Given the description of an element on the screen output the (x, y) to click on. 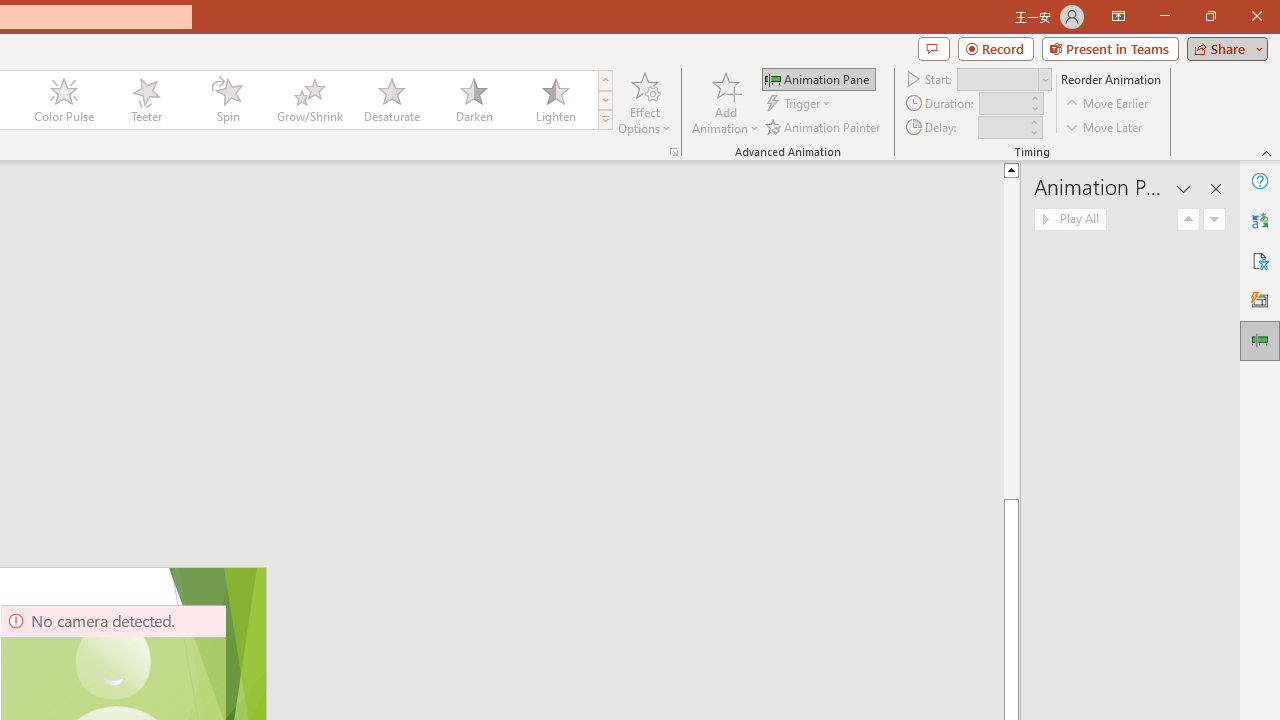
Desaturate (391, 100)
Spin (227, 100)
Animation Styles (605, 120)
Color Pulse (63, 100)
More Options... (673, 151)
Animation Painter (824, 126)
